Given the description of an element on the screen output the (x, y) to click on. 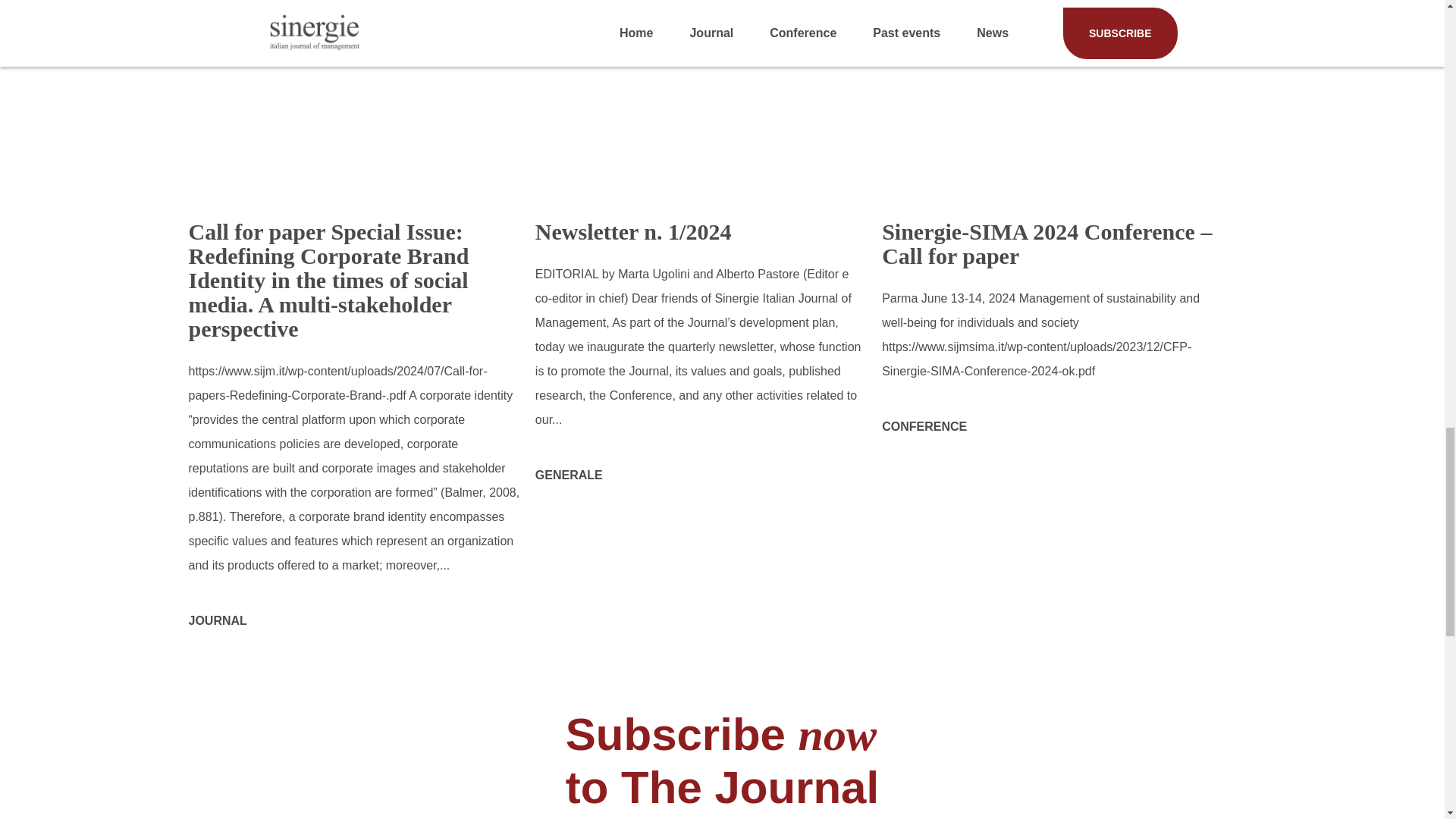
CONFERENCE (924, 426)
GENERALE (568, 475)
JOURNAL (216, 620)
